Given the description of an element on the screen output the (x, y) to click on. 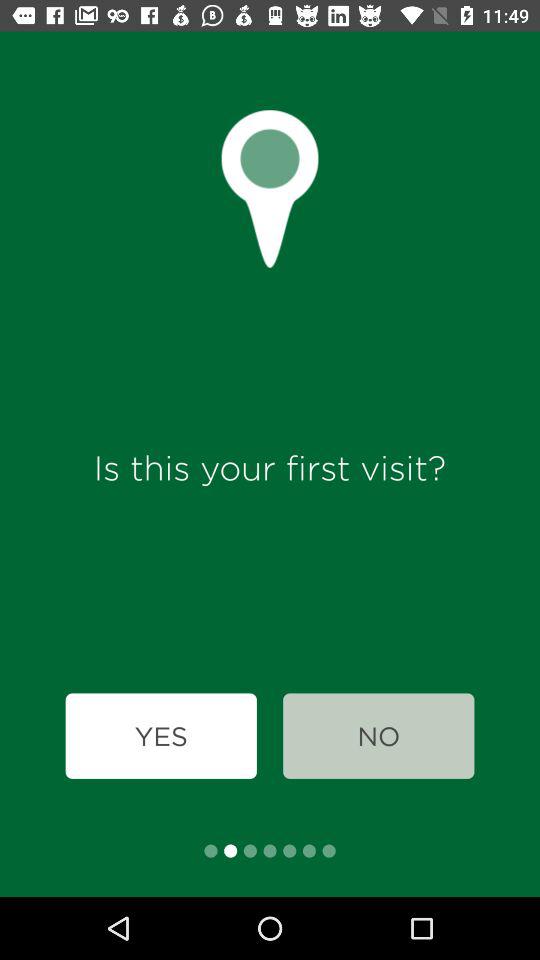
turn off the yes (160, 735)
